Given the description of an element on the screen output the (x, y) to click on. 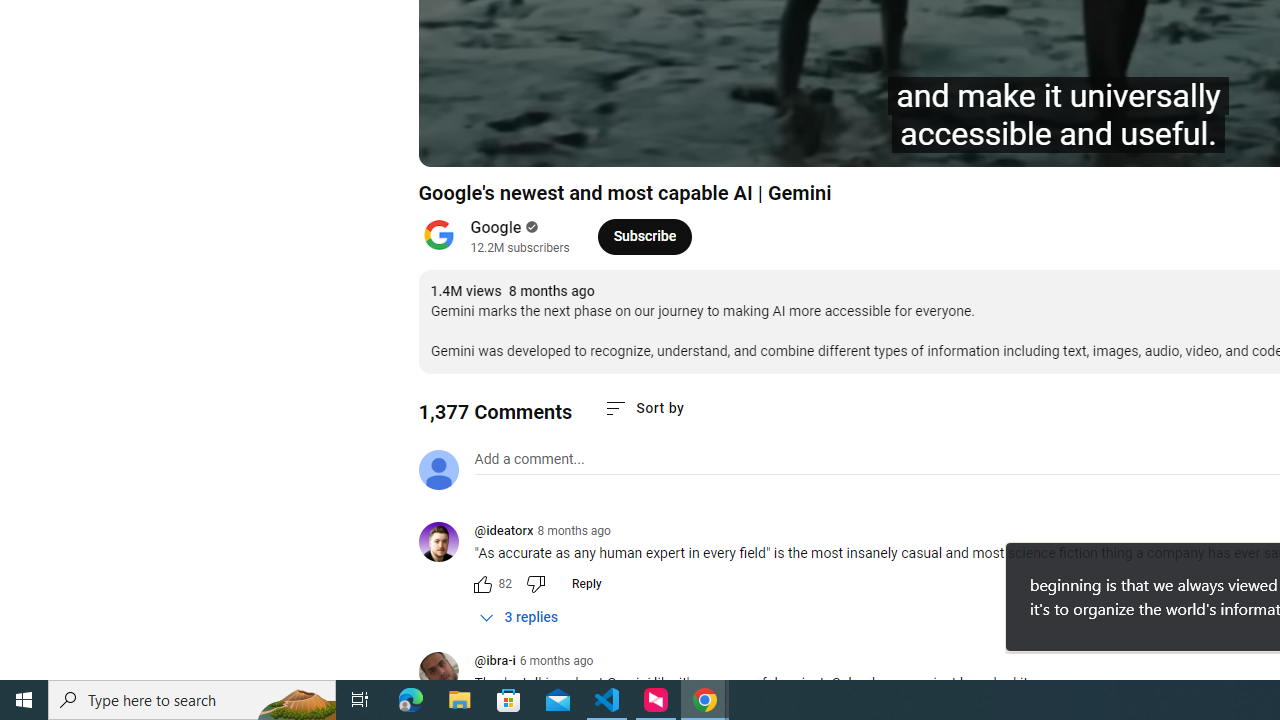
6 months ago (555, 661)
Mute (m) (548, 142)
Subscribe to Google. (644, 236)
Next (SHIFT+n) (500, 142)
AutomationID: simplebox-placeholder (528, 459)
Google (496, 227)
